Given the description of an element on the screen output the (x, y) to click on. 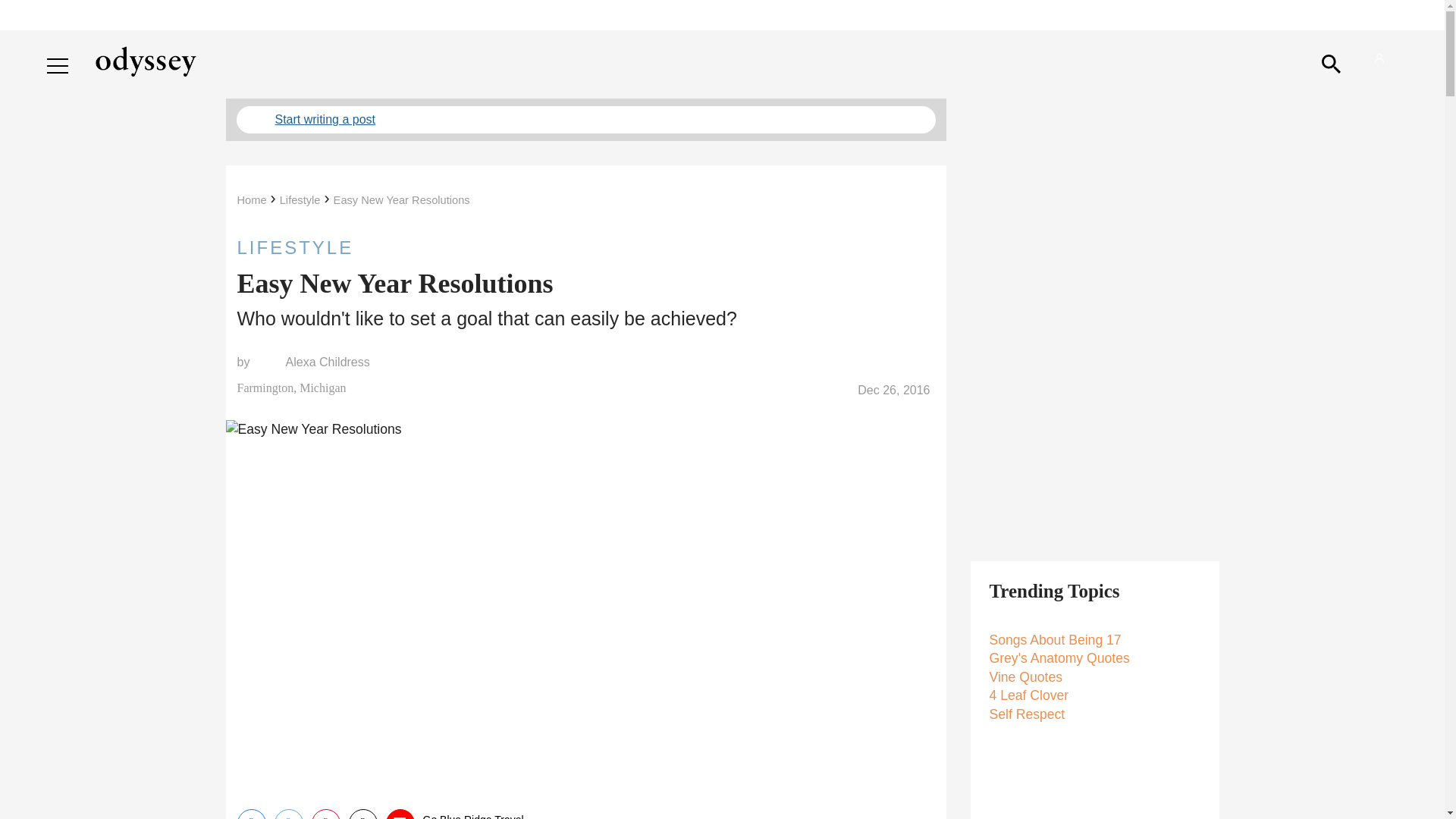
LIFESTYLE (584, 248)
Easy New Year Resolutions (401, 200)
Start writing a post (585, 119)
Lifestyle (299, 200)
Alexa Childress (327, 362)
Home (250, 200)
